Given the description of an element on the screen output the (x, y) to click on. 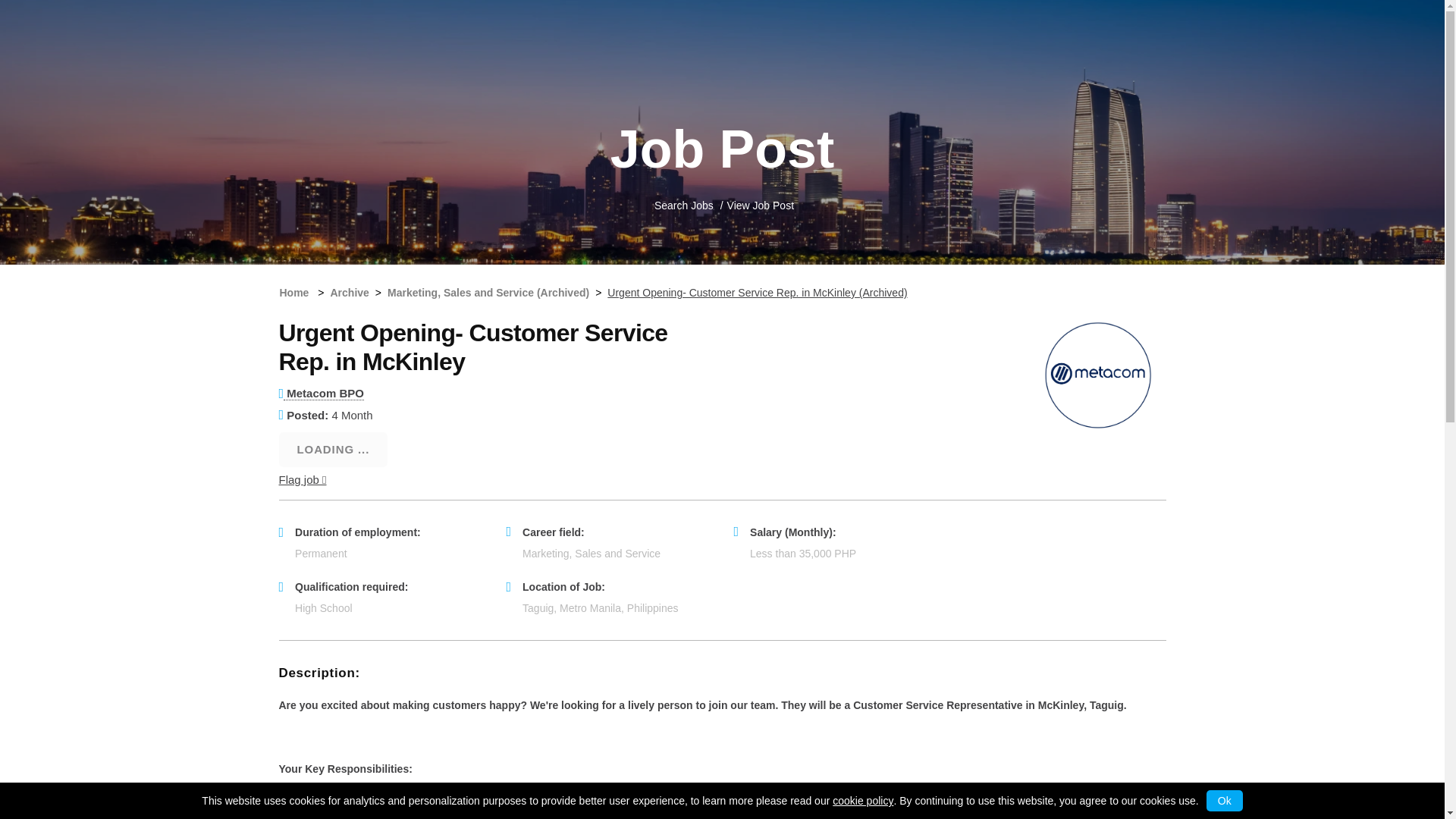
Search Jobs (683, 205)
LOADING ... (333, 449)
Home (293, 292)
Archive (349, 292)
